Given the description of an element on the screen output the (x, y) to click on. 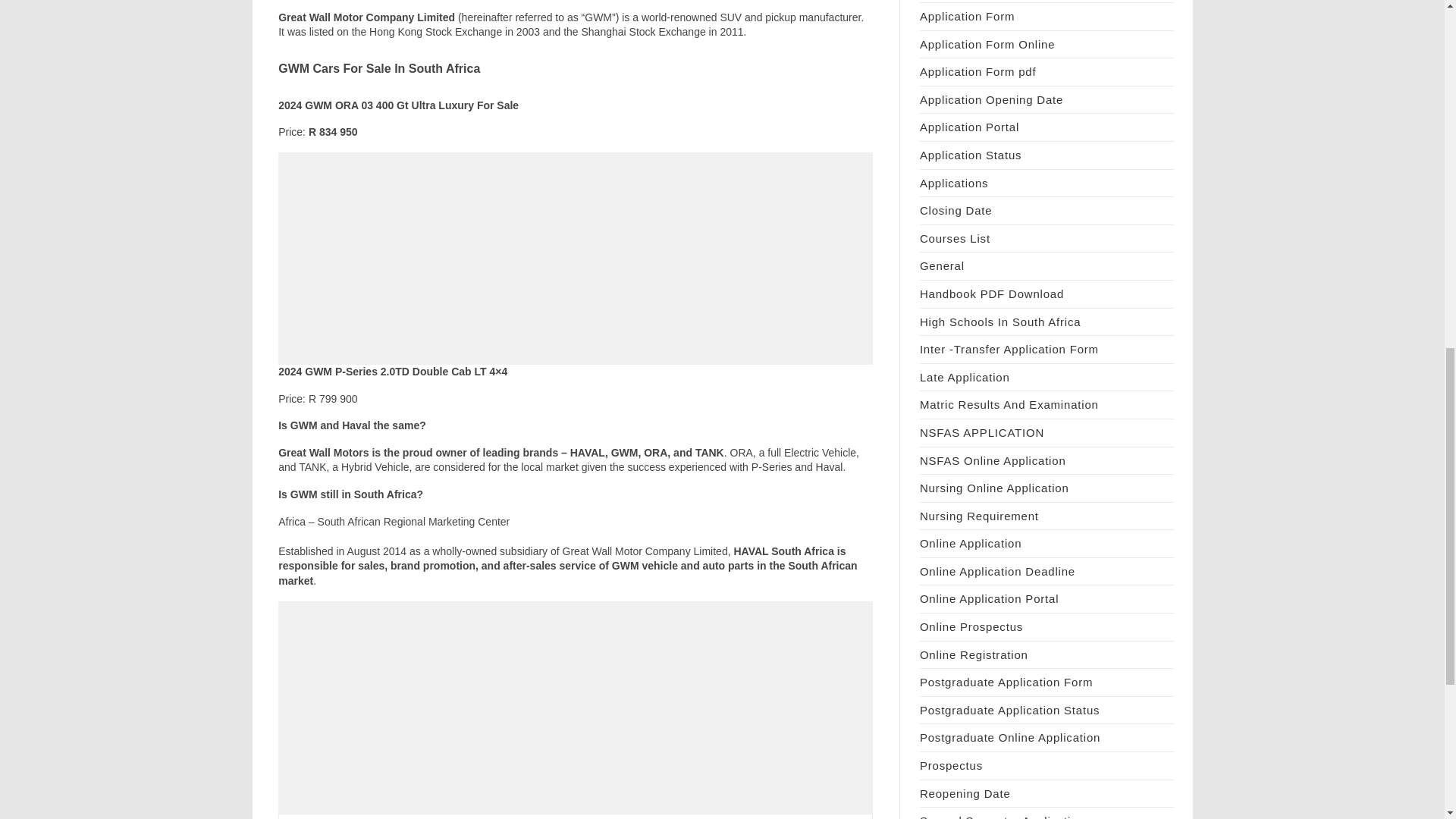
Courses List (955, 237)
Inter -Transfer Application Form (1009, 349)
Late Application (965, 377)
Application Portal (969, 126)
Application Opening Date (991, 99)
Nursing Requirement (979, 515)
Closing Date (955, 210)
High Schools In South Africa (1000, 321)
Handbook PDF Download (992, 293)
Application Status (971, 154)
